Given the description of an element on the screen output the (x, y) to click on. 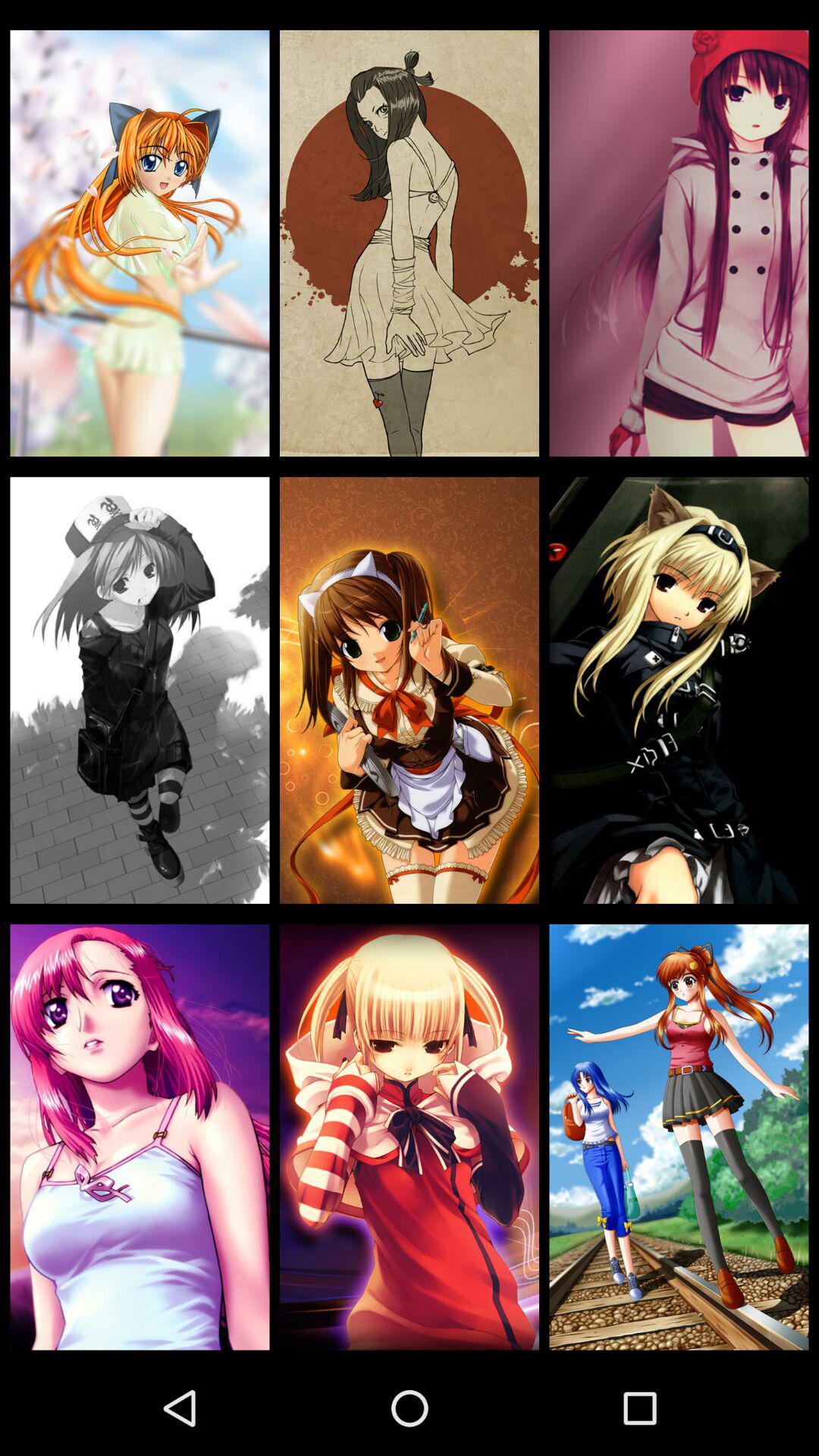
open the icon at the bottom left corner (139, 1137)
